Given the description of an element on the screen output the (x, y) to click on. 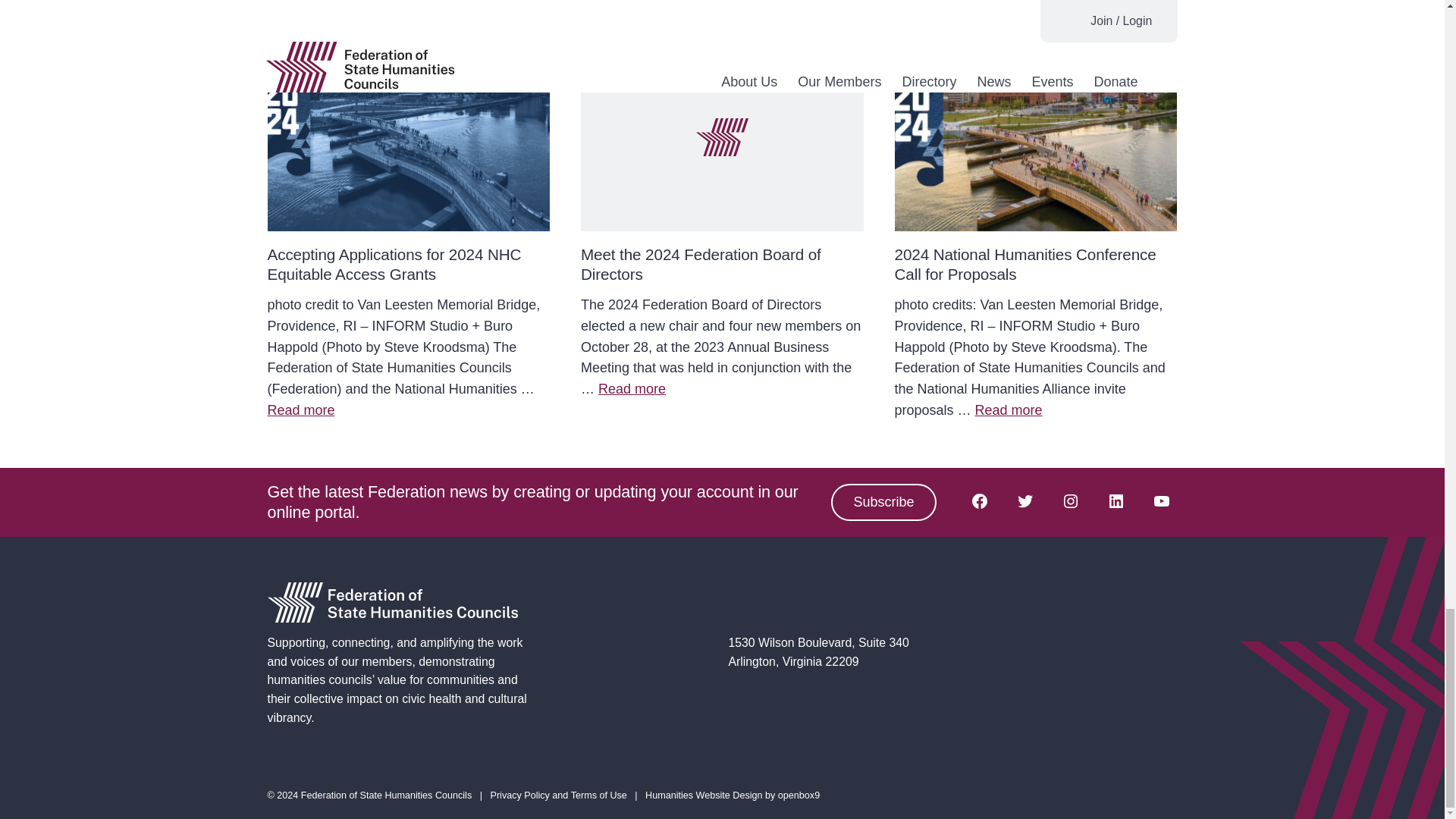
Accepting Applications for 2024 NHC Equitable Access Grants (393, 263)
Follow us on Linkedin (1115, 500)
Read more (631, 388)
Read more (1008, 409)
Read more (300, 409)
Meet the 2024 Federation Board of Directors (700, 263)
Follow us on Twitter (1025, 500)
Follow us on Instagram (1070, 500)
Subscribe (883, 502)
Follow us on Youtube (1160, 500)
2024 National Humanities Conference Call for Proposals (1025, 263)
Follow us on Facebook (978, 500)
